Given the description of an element on the screen output the (x, y) to click on. 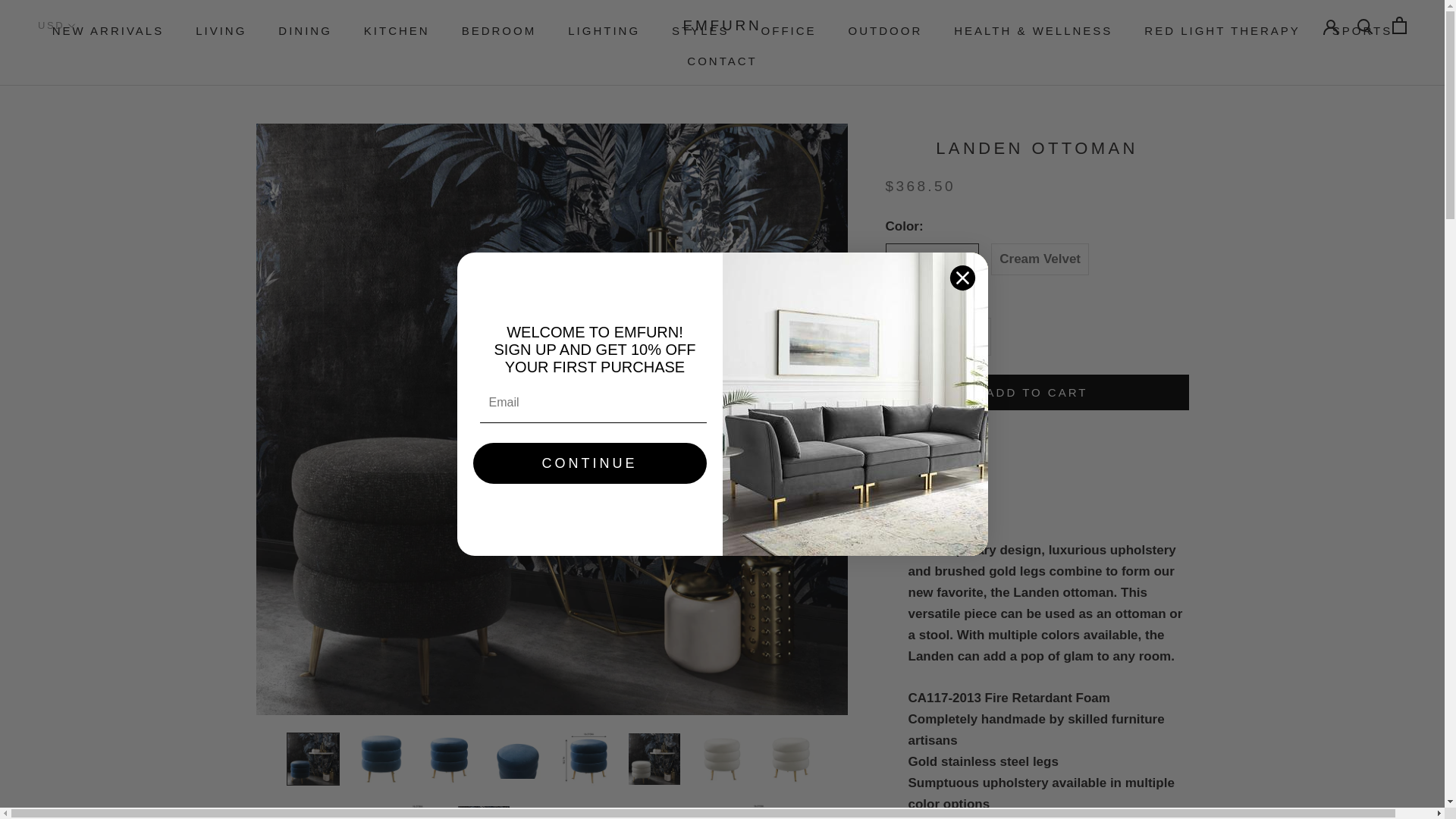
1 (938, 336)
Currency selector (57, 25)
